Given the description of an element on the screen output the (x, y) to click on. 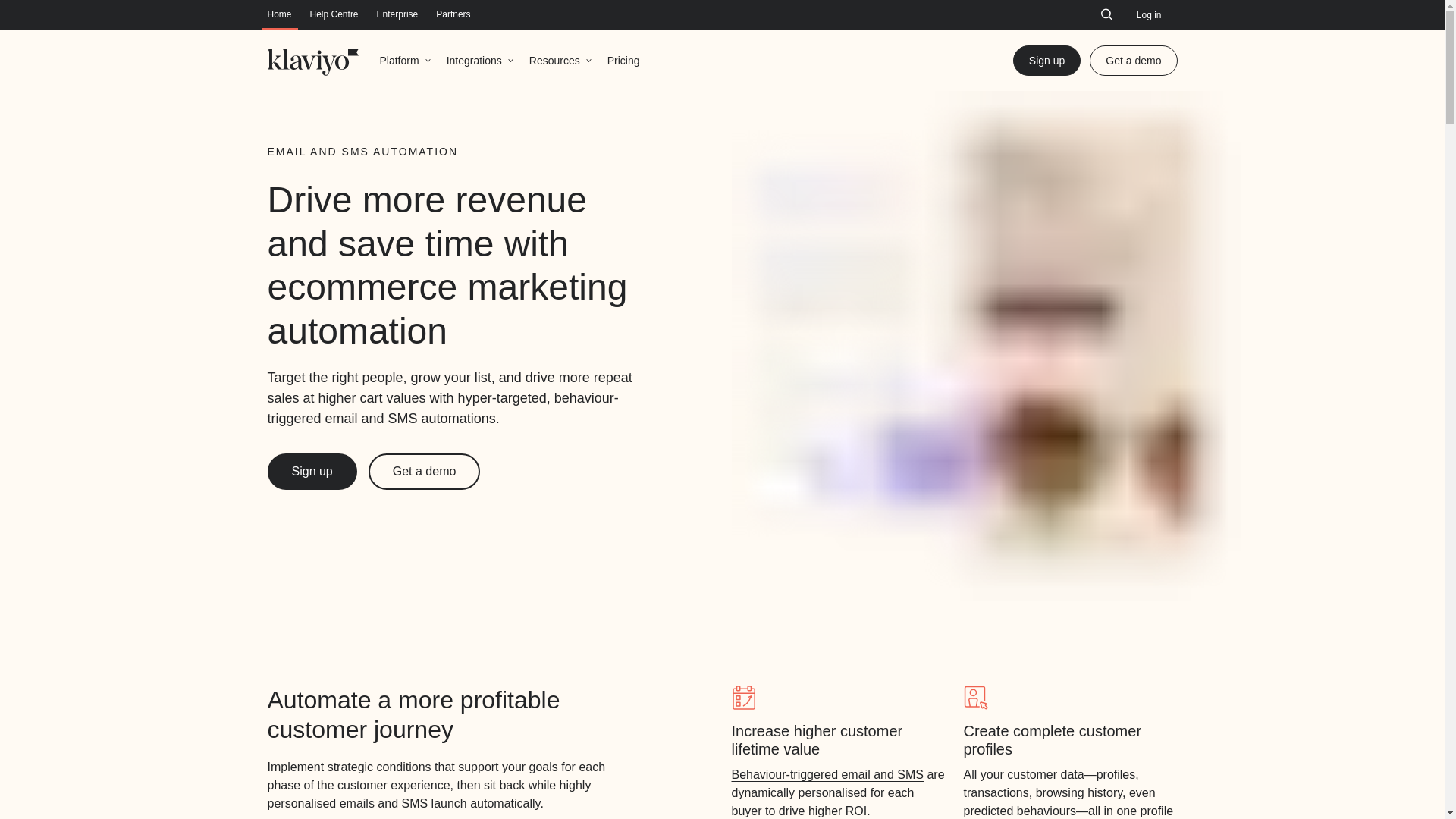
Log in (1149, 14)
Enterprise (398, 13)
Partners (452, 13)
Go to the Klaviyo home page (312, 60)
Home (278, 13)
Help Centre (334, 13)
